Given the description of an element on the screen output the (x, y) to click on. 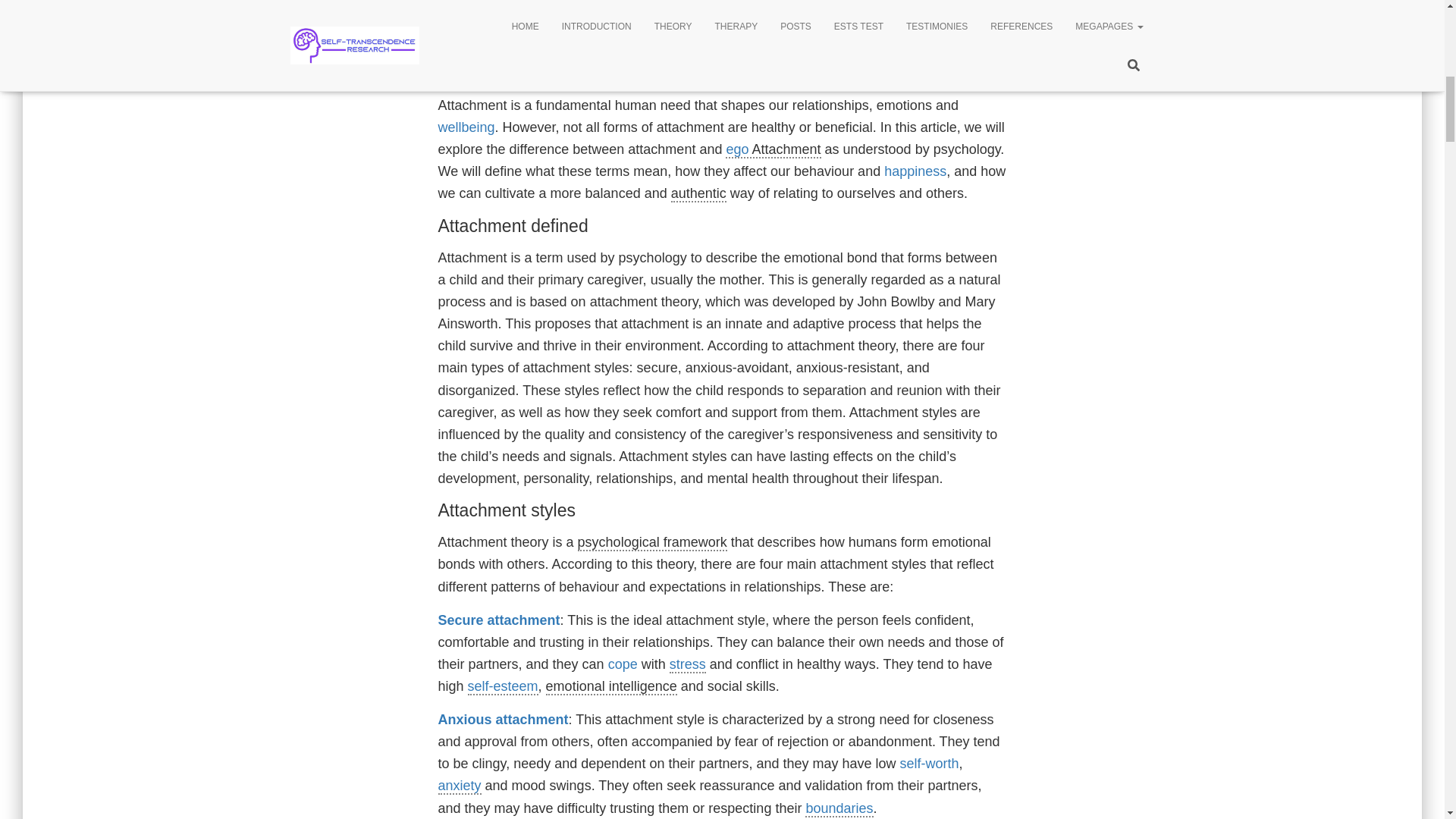
Anxious attachment (503, 719)
self-worth (929, 763)
cope (622, 663)
stress (687, 664)
wellbeing (466, 127)
ego (736, 149)
anxiety (459, 785)
happiness (914, 171)
self-esteem (502, 686)
Secure attachment (499, 620)
